Given the description of an element on the screen output the (x, y) to click on. 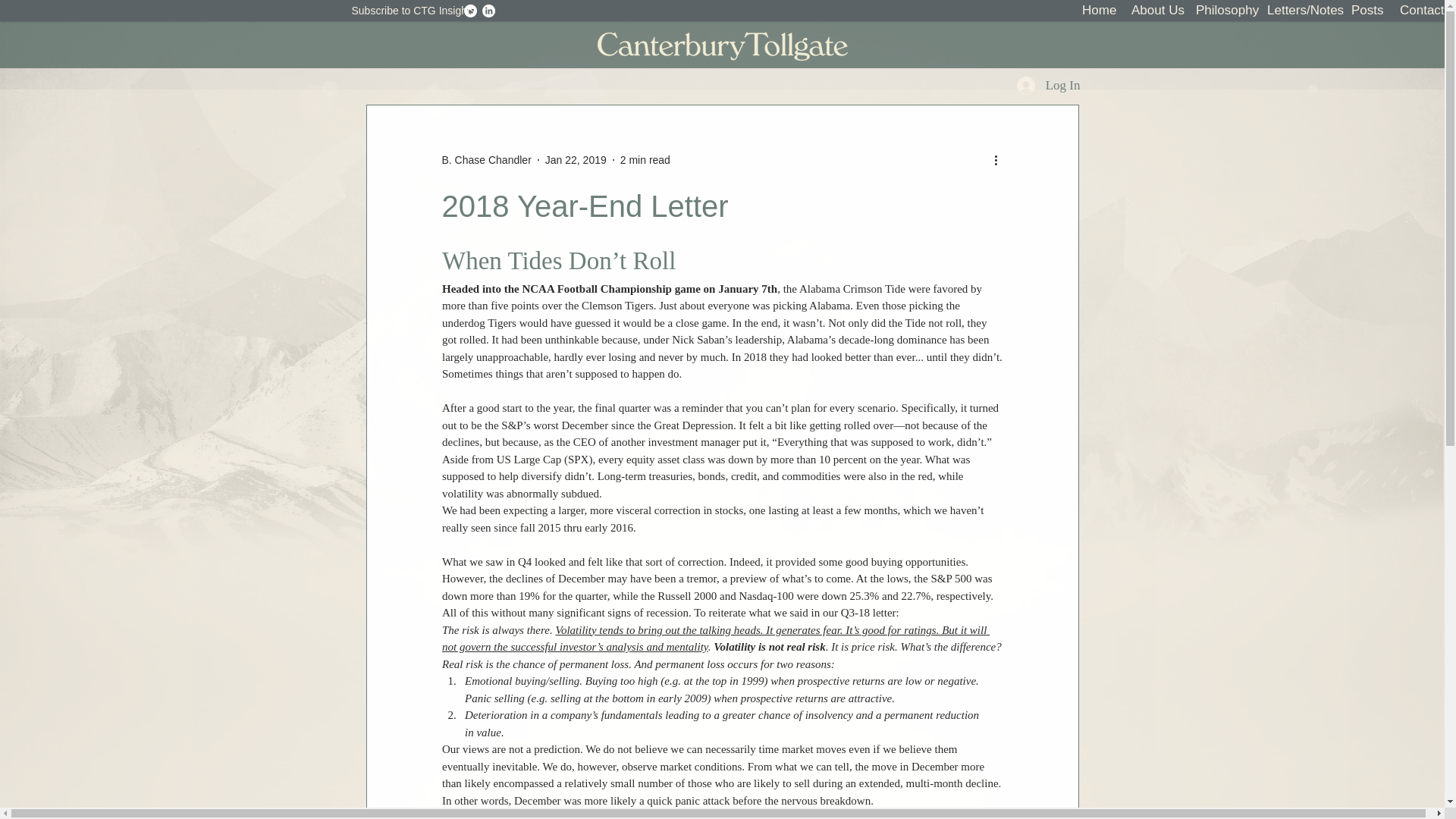
Subscribe to CTG Insights (413, 11)
Log In (1048, 85)
2 min read (644, 159)
Posts (1363, 10)
Jan 22, 2019 (575, 159)
Home (1094, 10)
B. Chase Chandler (486, 159)
Philosophy (1219, 10)
B. Chase Chandler (486, 159)
About Us (1151, 10)
